Given the description of an element on the screen output the (x, y) to click on. 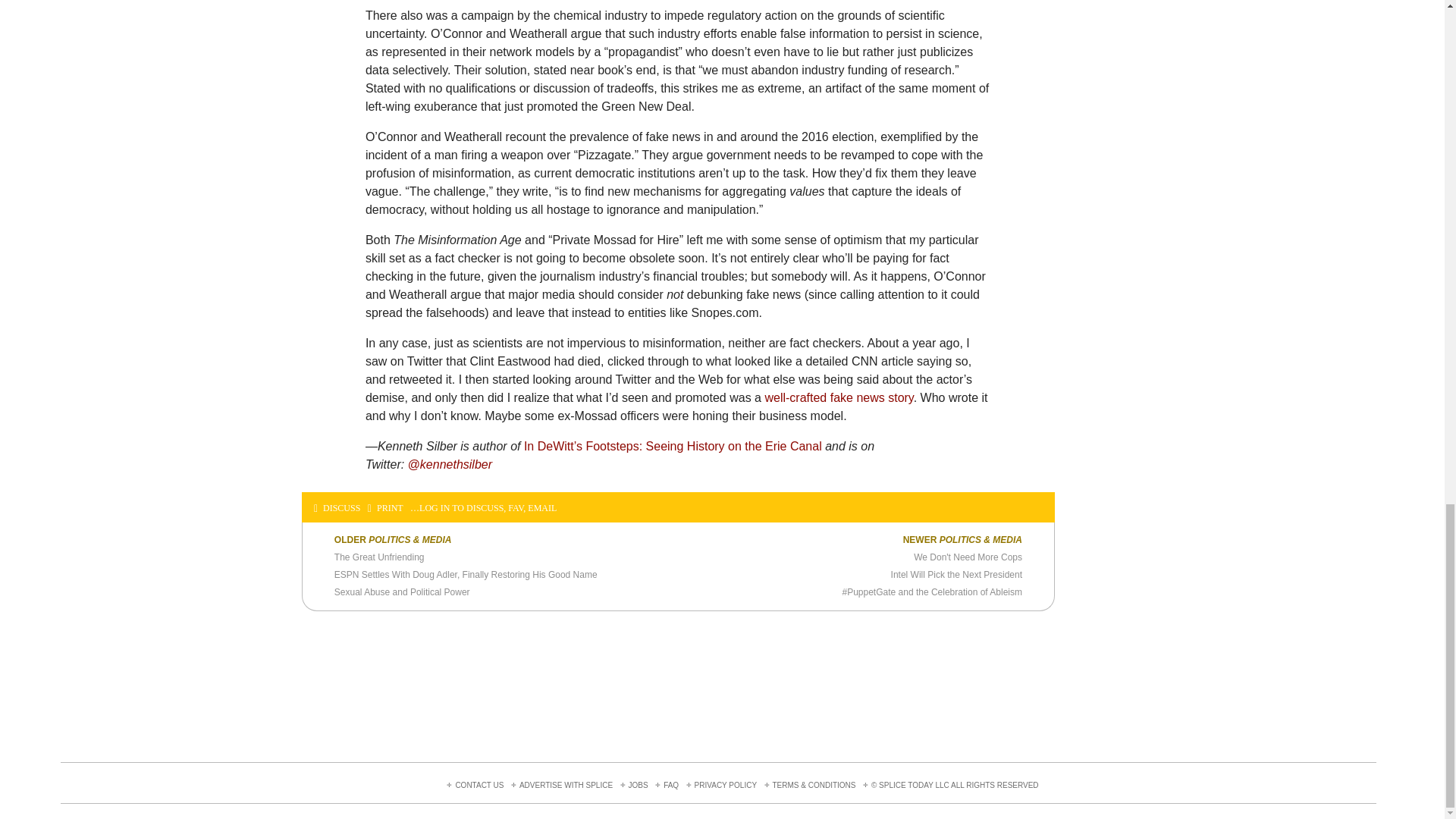
well-crafted fake news story (838, 397)
